Given the description of an element on the screen output the (x, y) to click on. 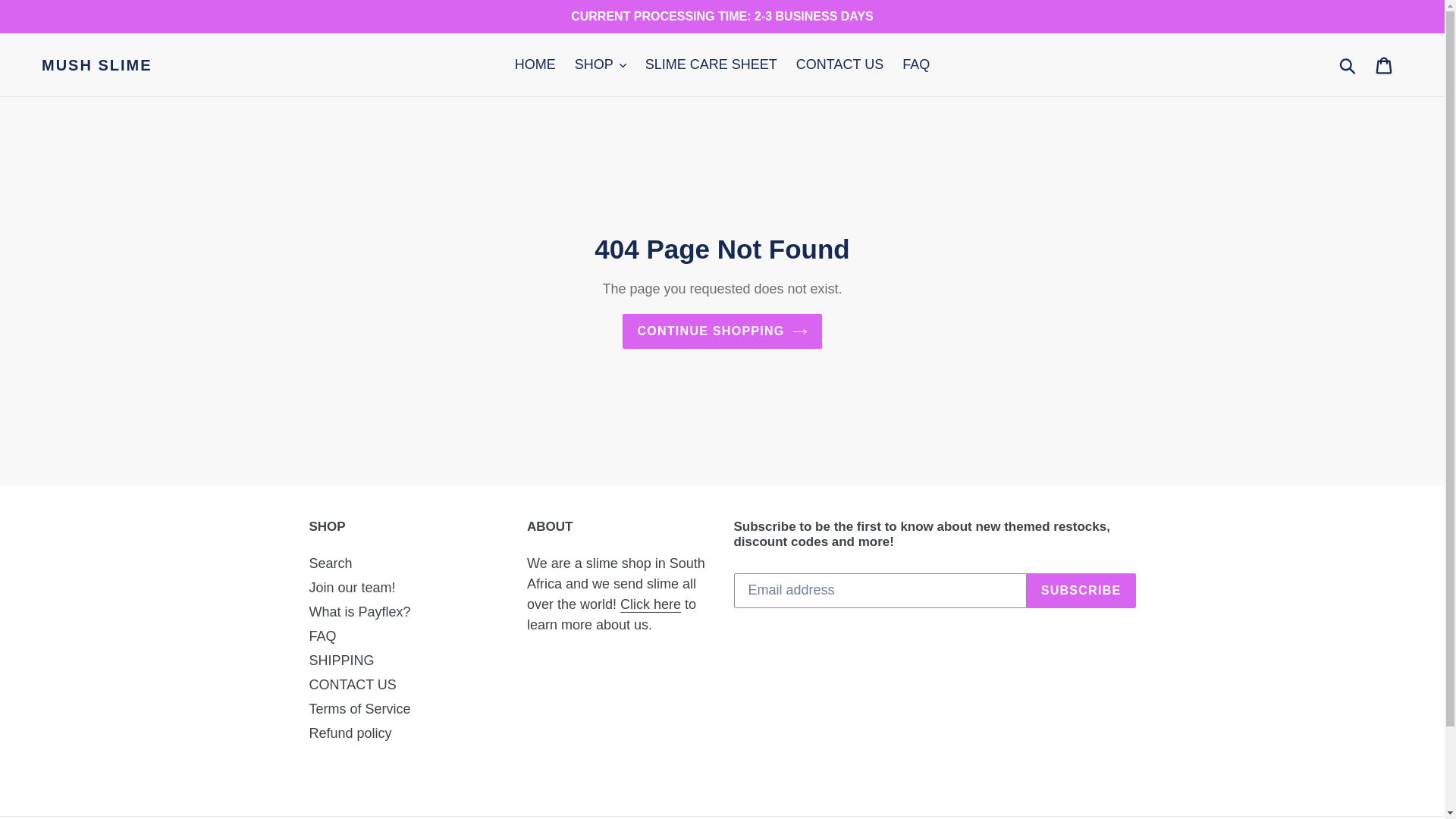
FAQ (916, 64)
SLIME CARE SHEET (710, 64)
HOME (534, 64)
Cart (1385, 64)
MUSH SLIME (96, 65)
CONTACT US (840, 64)
Submit (1348, 64)
